Given the description of an element on the screen output the (x, y) to click on. 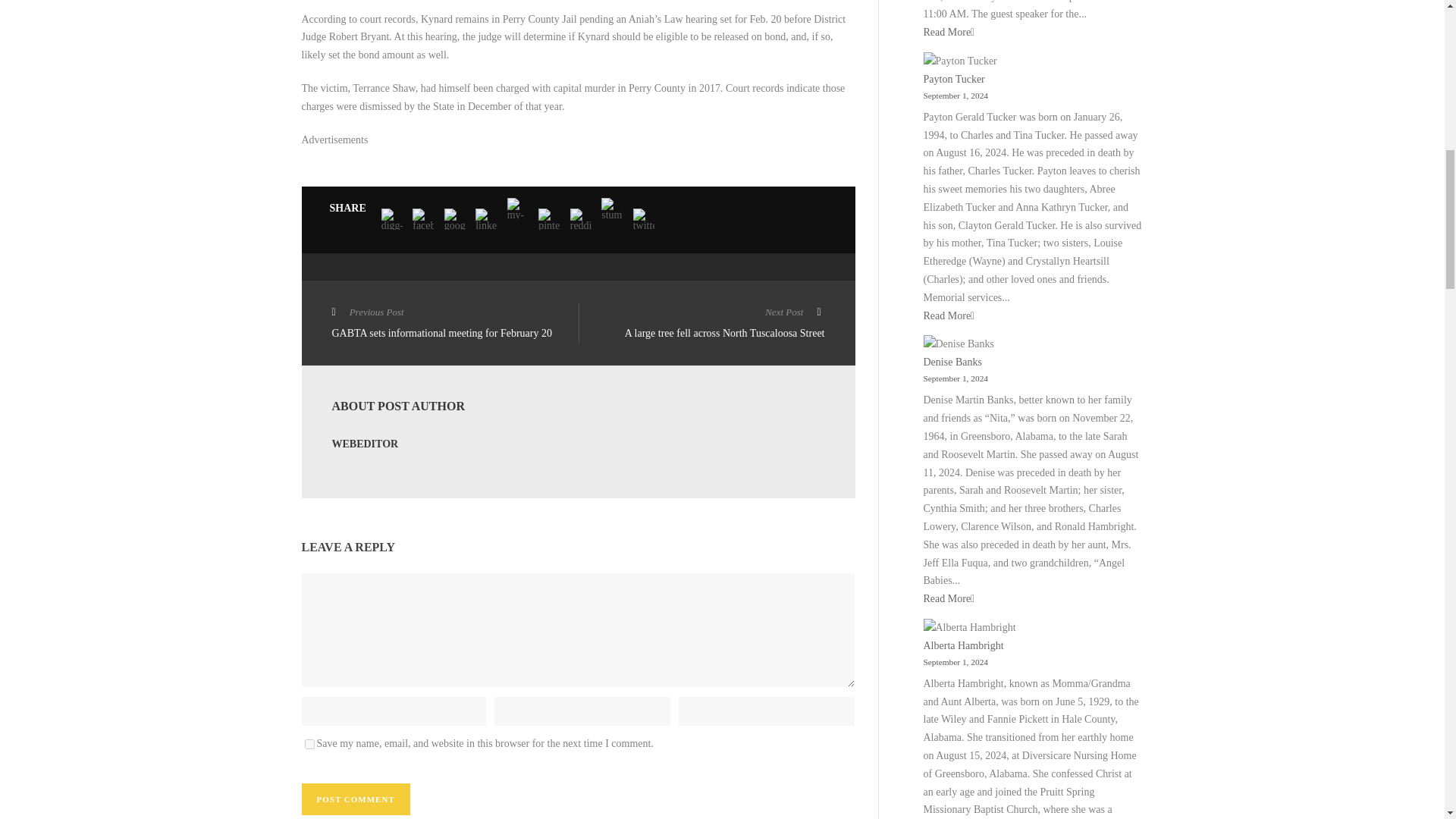
Post Comment (355, 798)
Posts by WebEditor (364, 443)
yes (309, 744)
